Given the description of an element on the screen output the (x, y) to click on. 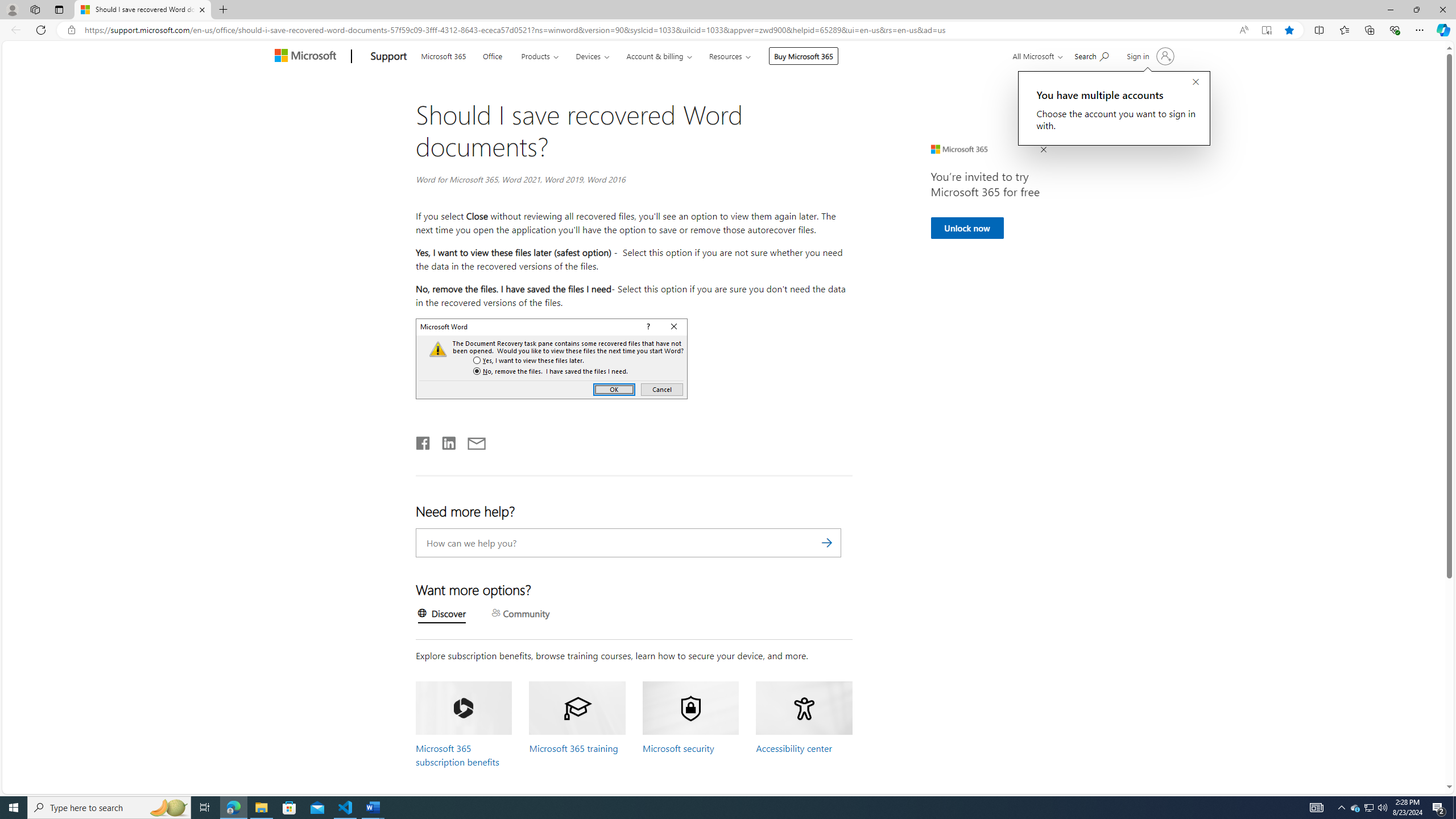
Close callout prompt. (1195, 82)
Collections (1369, 29)
Restore (1416, 9)
Close tab (202, 9)
LinkedIn (448, 441)
Share by email (471, 441)
Discover (441, 614)
Back (13, 29)
Browser essentials (1394, 29)
Should I save recovered Word documents? - Microsoft Support (142, 9)
